Given the description of an element on the screen output the (x, y) to click on. 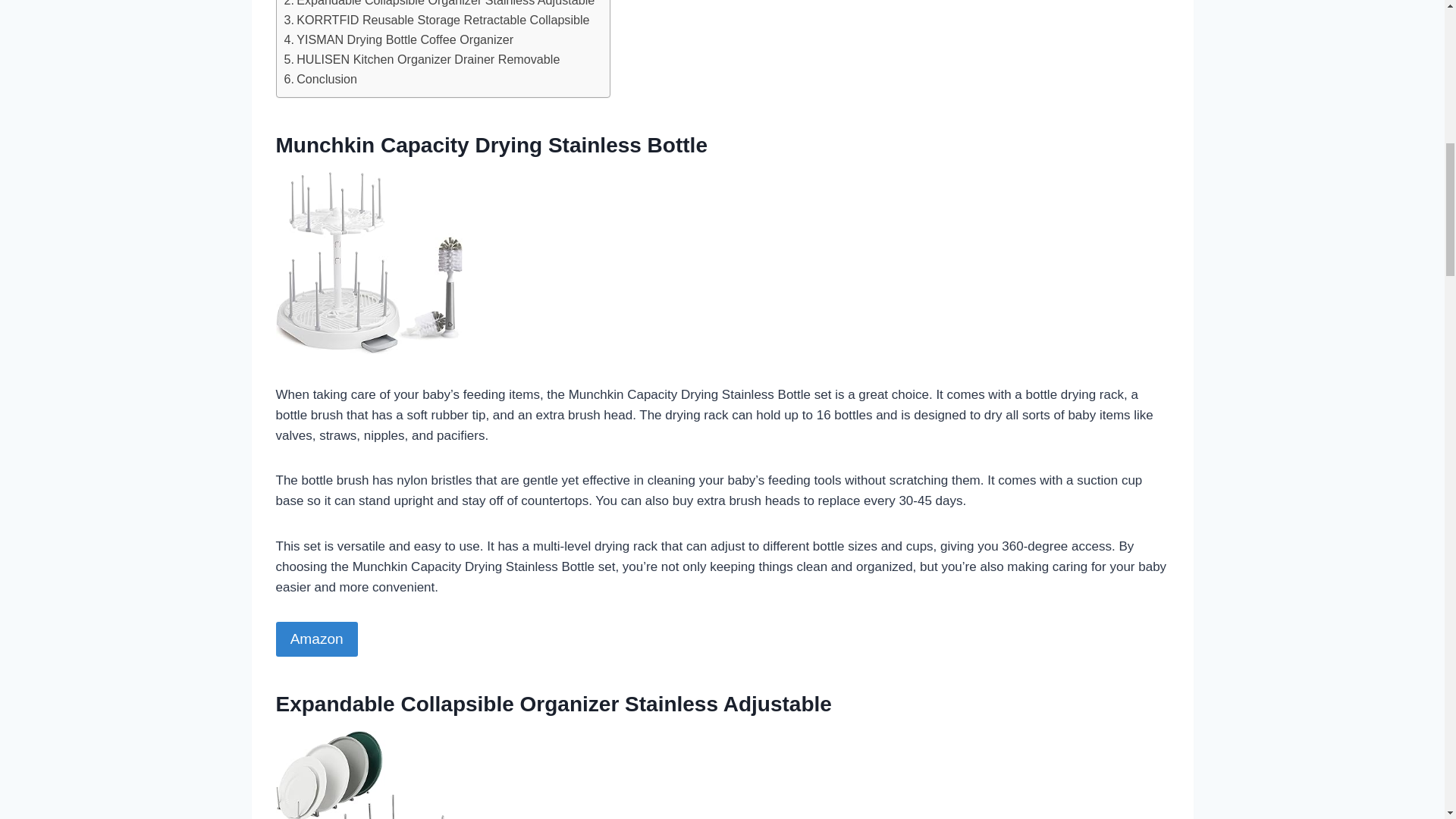
Amazon (317, 638)
KORRTFID Reusable Storage Retractable Collapsible (436, 20)
Conclusion (319, 79)
HULISEN Kitchen Organizer Drainer Removable (421, 59)
YISMAN Drying Bottle Coffee Organizer (398, 39)
HULISEN Kitchen Organizer Drainer Removable (421, 59)
Expandable Collapsible Organizer Stainless Adjustable (438, 5)
Expandable Collapsible Organizer Stainless Adjustable (438, 5)
YISMAN Drying Bottle Coffee Organizer (398, 39)
Conclusion (319, 79)
